Given the description of an element on the screen output the (x, y) to click on. 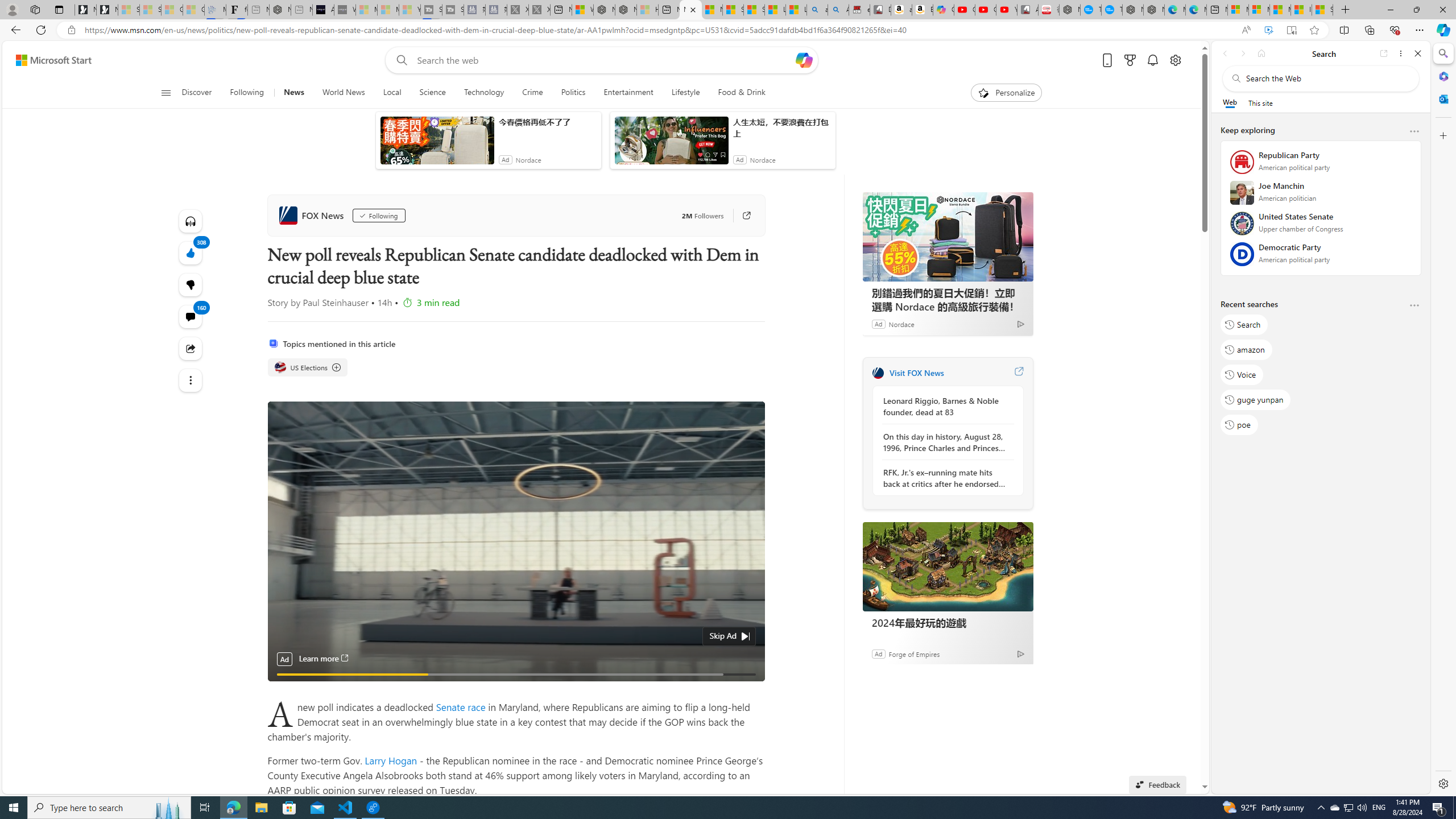
Voice (1241, 374)
AI Voice Changer for PC and Mac - Voice.ai (323, 9)
Visit FOX News website (1018, 372)
US Elections US Elections US Elections (307, 367)
amazon.in/dp/B0CX59H5W7/?tag=gsmcom05-21 (901, 9)
Skip to footer (46, 59)
Nordace - #1 Japanese Best-Seller - Siena Smart Backpack (279, 9)
Forge of Empires (913, 653)
